Given the description of an element on the screen output the (x, y) to click on. 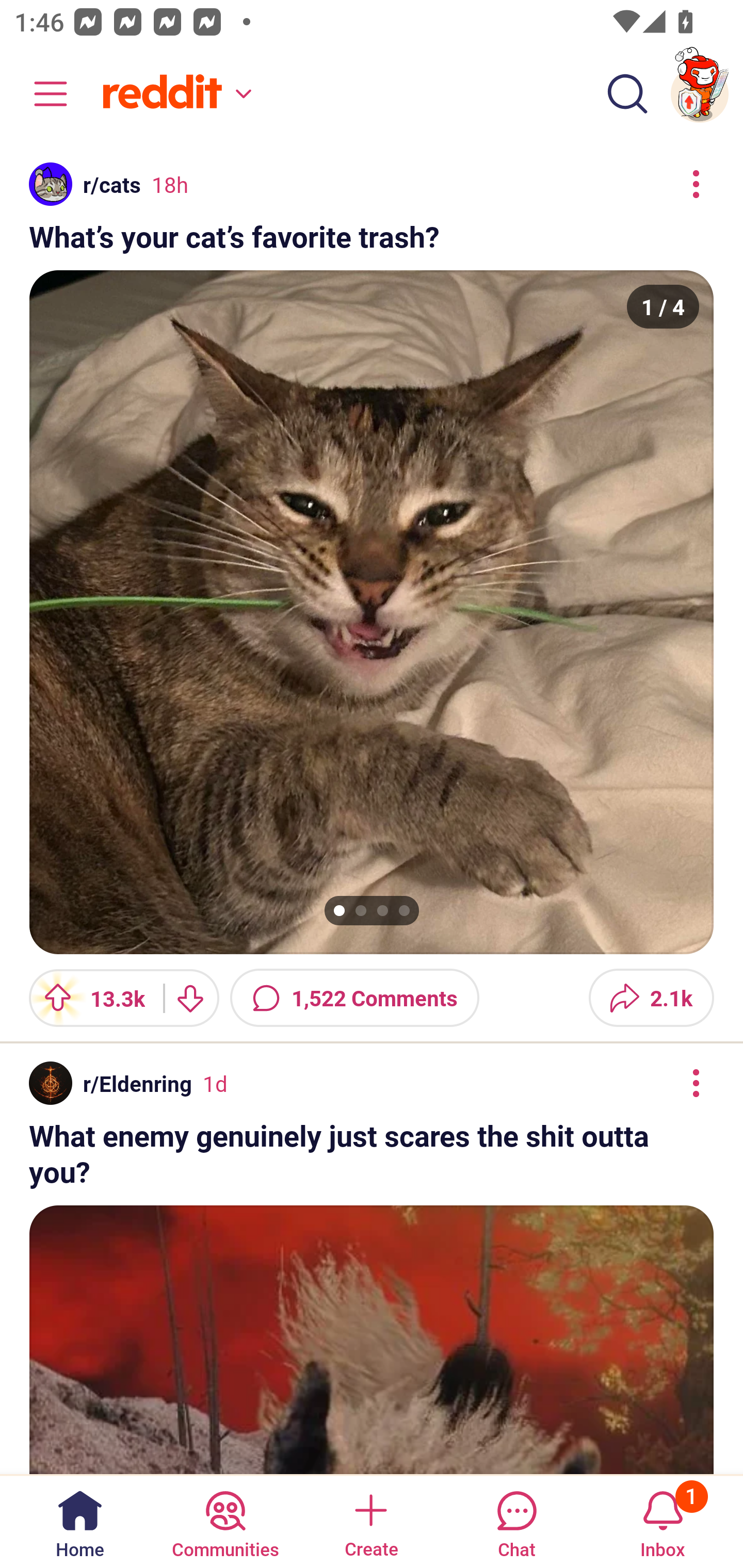
Search (626, 93)
TestAppium002 account (699, 93)
Community menu (41, 94)
Home feed (173, 94)
Home (80, 1520)
Communities (225, 1520)
Create a post Create (370, 1520)
Chat (516, 1520)
Inbox, has 1 notification 1 Inbox (662, 1520)
